Given the description of an element on the screen output the (x, y) to click on. 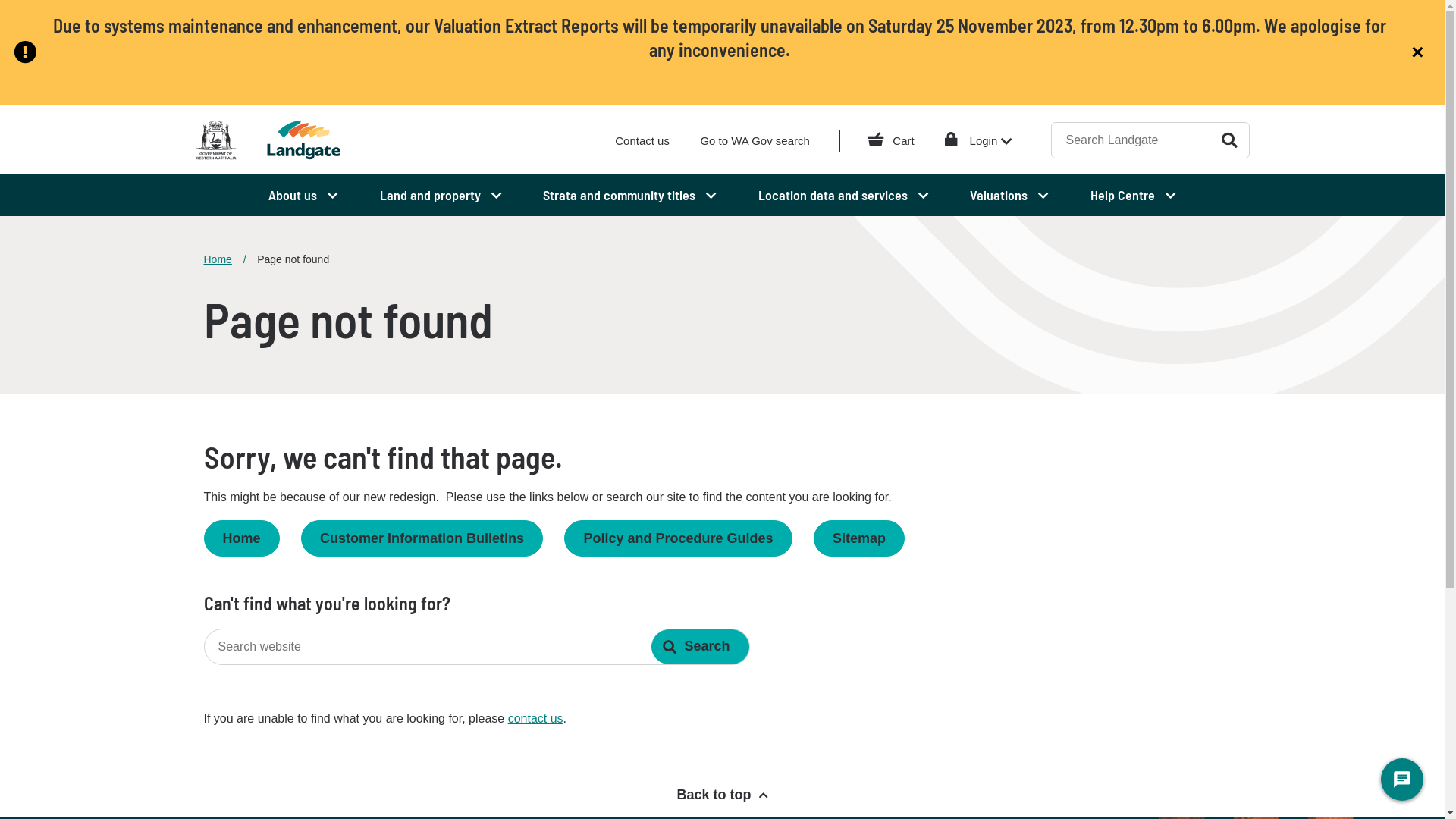
Search Element type: text (1229, 139)
Home Element type: text (241, 538)
Home Element type: text (224, 259)
Back to top Element type: text (721, 794)
Cart Element type: text (902, 140)
Login Element type: text (991, 140)
contact us Element type: text (535, 718)
Sitemap Element type: text (858, 538)
Go to WA Gov search Element type: text (754, 140)
Search Element type: text (699, 646)
Policy and Procedure Guides Element type: text (677, 538)
Genesys Messenger Launcher Element type: hover (1401, 782)
Customer Information Bulletins Element type: text (421, 538)
Contact us Element type: text (642, 140)
